Given the description of an element on the screen output the (x, y) to click on. 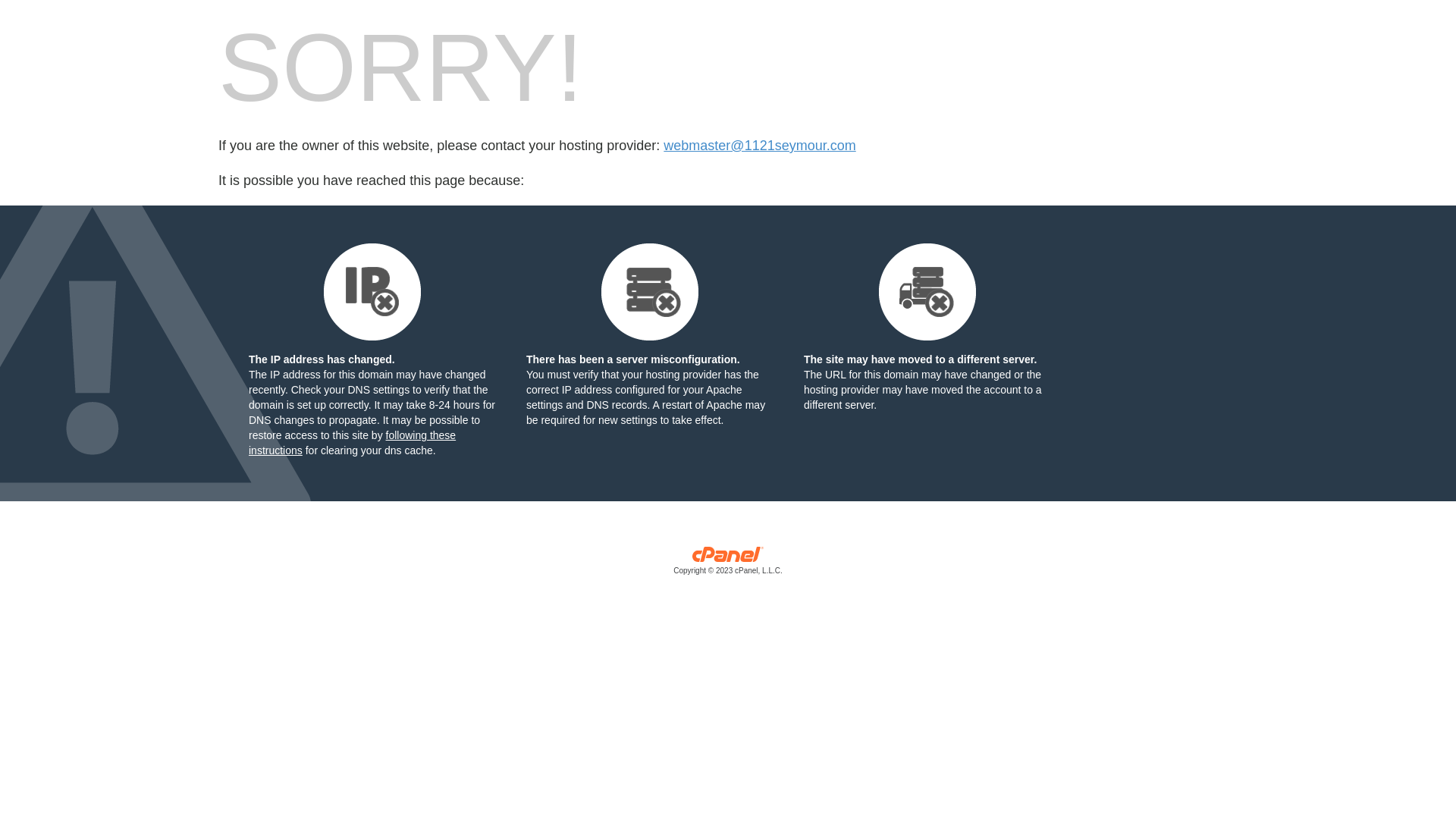
webmaster@1121seymour.com Element type: text (759, 145)
following these instructions Element type: text (351, 442)
